Given the description of an element on the screen output the (x, y) to click on. 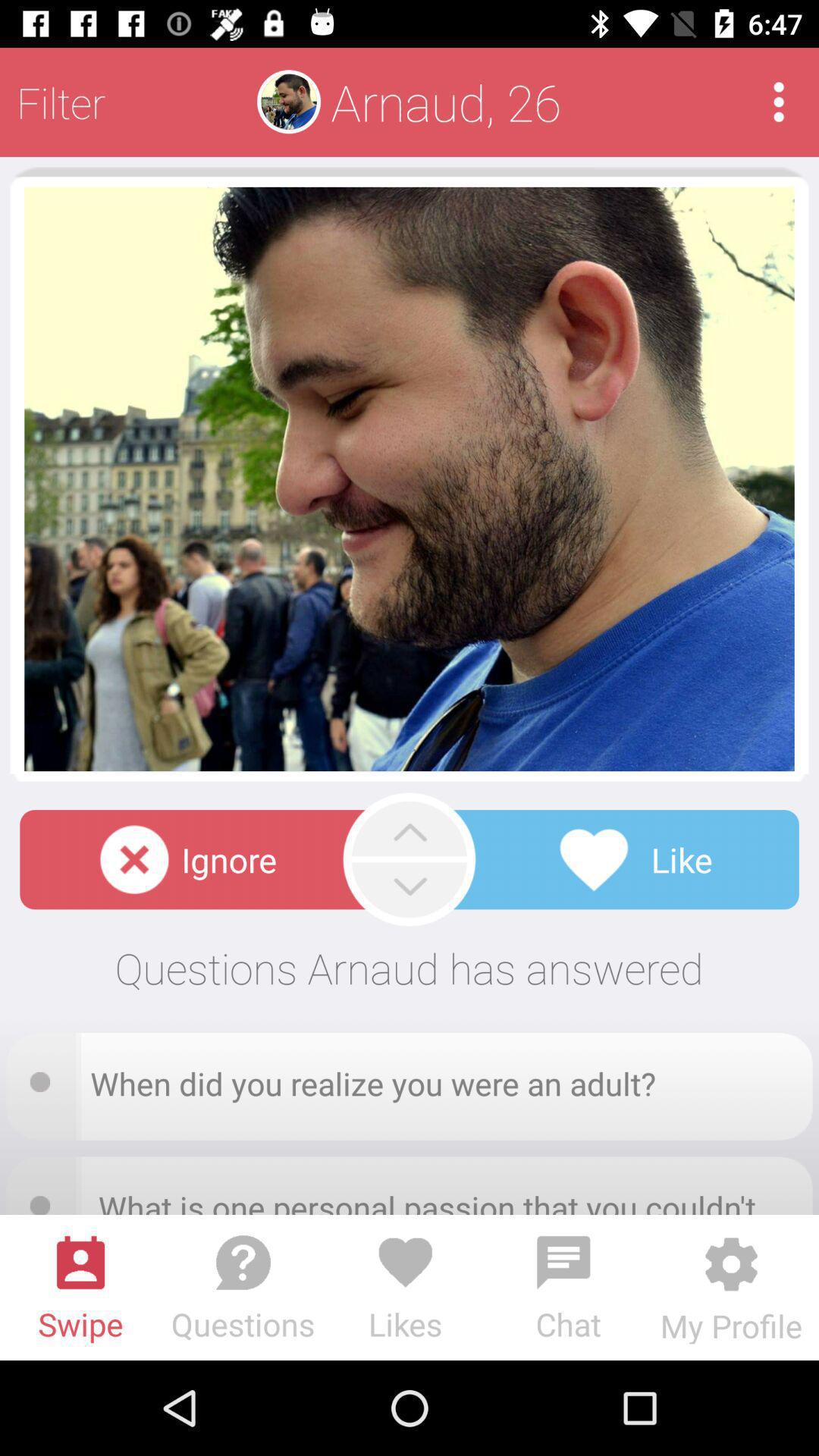
select task (45, 1076)
